Given the description of an element on the screen output the (x, y) to click on. 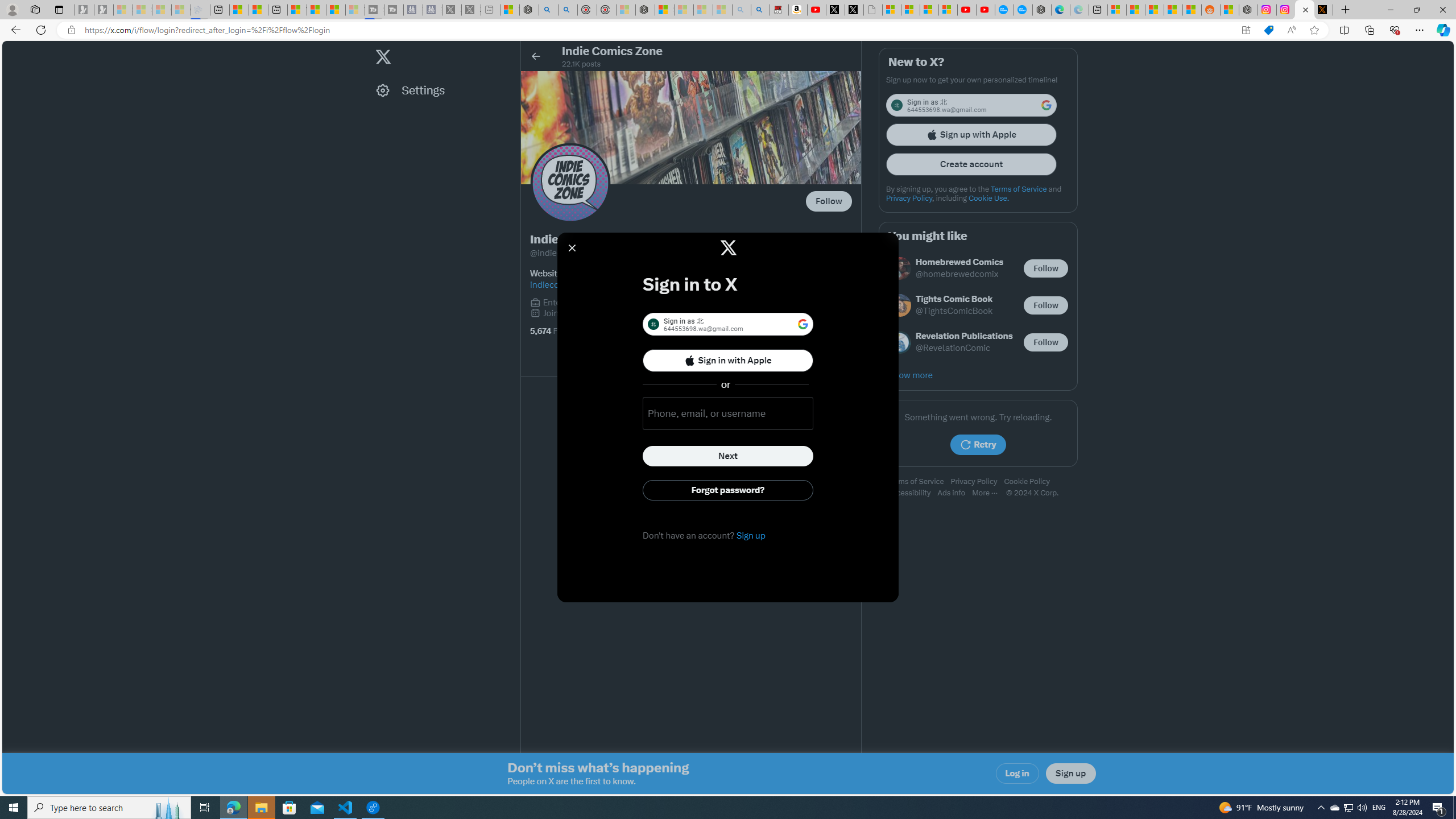
Shopping in Microsoft Edge (1268, 29)
Shanghai, China weather forecast | Microsoft Weather (1135, 9)
Microsoft account | Microsoft Account Privacy Settings (1116, 9)
poe ++ standard - Search (567, 9)
X (853, 9)
Gloom - YouTube (966, 9)
Day 1: Arriving in Yemen (surreal to be here) - YouTube (816, 9)
Untitled (872, 9)
